Given the description of an element on the screen output the (x, y) to click on. 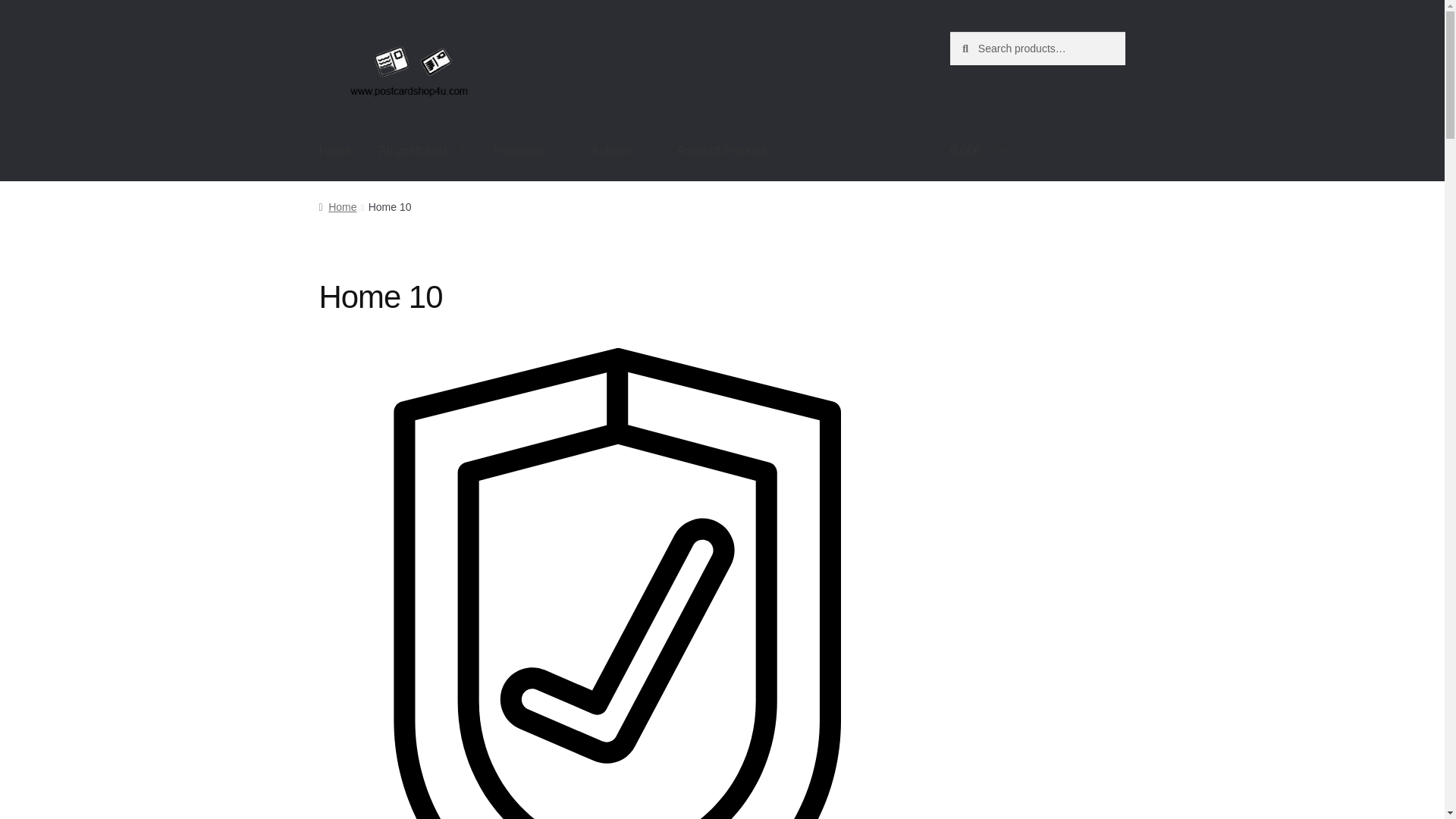
All postcards (421, 150)
Authors (619, 150)
Postcards (527, 150)
Home (335, 150)
View your shopping cart (1037, 150)
